Given the description of an element on the screen output the (x, y) to click on. 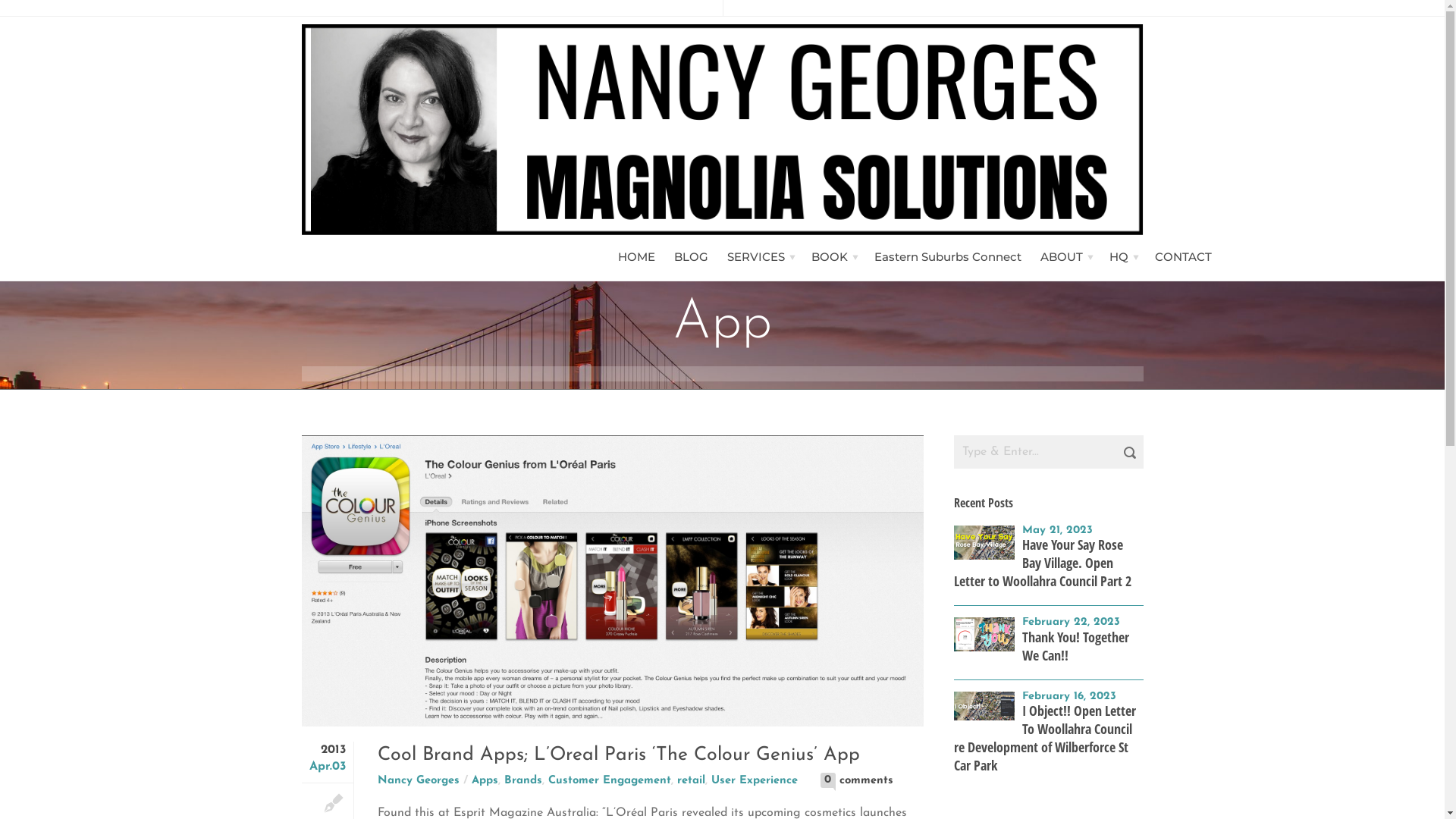
Apps Element type: text (484, 780)
Customer Engagement Element type: text (608, 780)
Eastern Suburbs Connect Element type: text (947, 257)
HQ Element type: text (1118, 257)
Nancy Georges Element type: text (418, 780)
BLOG Element type: text (690, 257)
0
comments Element type: text (865, 780)
2013 Element type: text (327, 749)
BOOK Element type: text (829, 257)
retail Element type: text (690, 780)
SERVICES Element type: text (754, 257)
Brands Element type: text (522, 780)
HOME Element type: text (635, 257)
CONTACT Element type: text (1182, 257)
ABOUT Element type: text (1061, 257)
User Experience Element type: text (754, 780)
Apr.03 Element type: text (327, 766)
Thank You! Together We Can!! Element type: text (1075, 645)
